Given the description of an element on the screen output the (x, y) to click on. 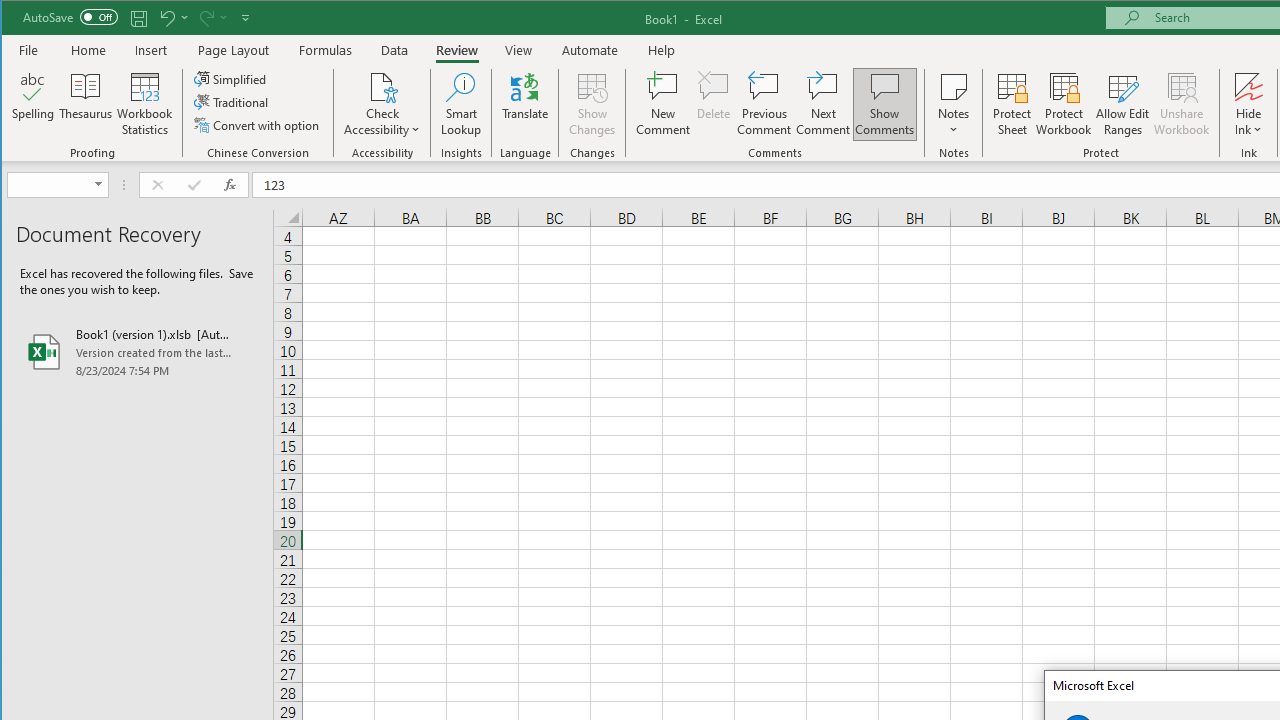
Hide Ink (1248, 86)
Data (395, 50)
Book1 (version 1).xlsb  [AutoRecovered] (137, 352)
Page Layout (233, 50)
Check Accessibility (381, 86)
Undo (166, 17)
Delete (713, 104)
Thesaurus... (86, 104)
Previous Comment (763, 104)
Name Box (49, 184)
Simplified (231, 78)
Translate (525, 104)
Show Changes (592, 104)
Workbook Statistics (145, 104)
Customize Quick Access Toolbar (245, 17)
